Given the description of an element on the screen output the (x, y) to click on. 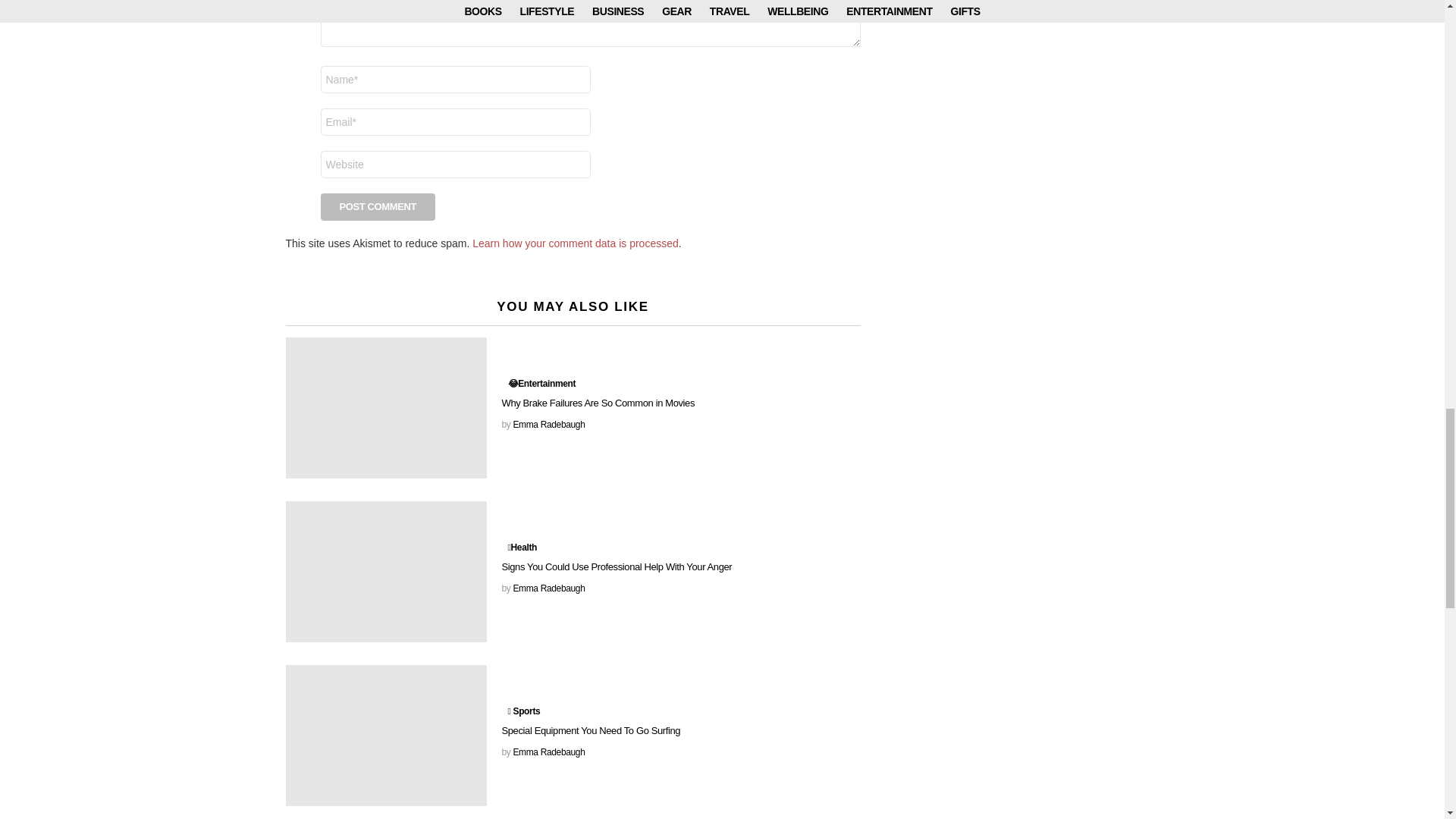
Special Equipment You Need To Go Surfing (385, 735)
Posts by Emma Radebaugh (548, 751)
Posts by Emma Radebaugh (548, 588)
Posts by Emma Radebaugh (548, 424)
Post Comment (377, 206)
Signs You Could Use Professional Help With Your Anger (385, 571)
Why Brake Failures Are So Common in Movies (385, 407)
